Given the description of an element on the screen output the (x, y) to click on. 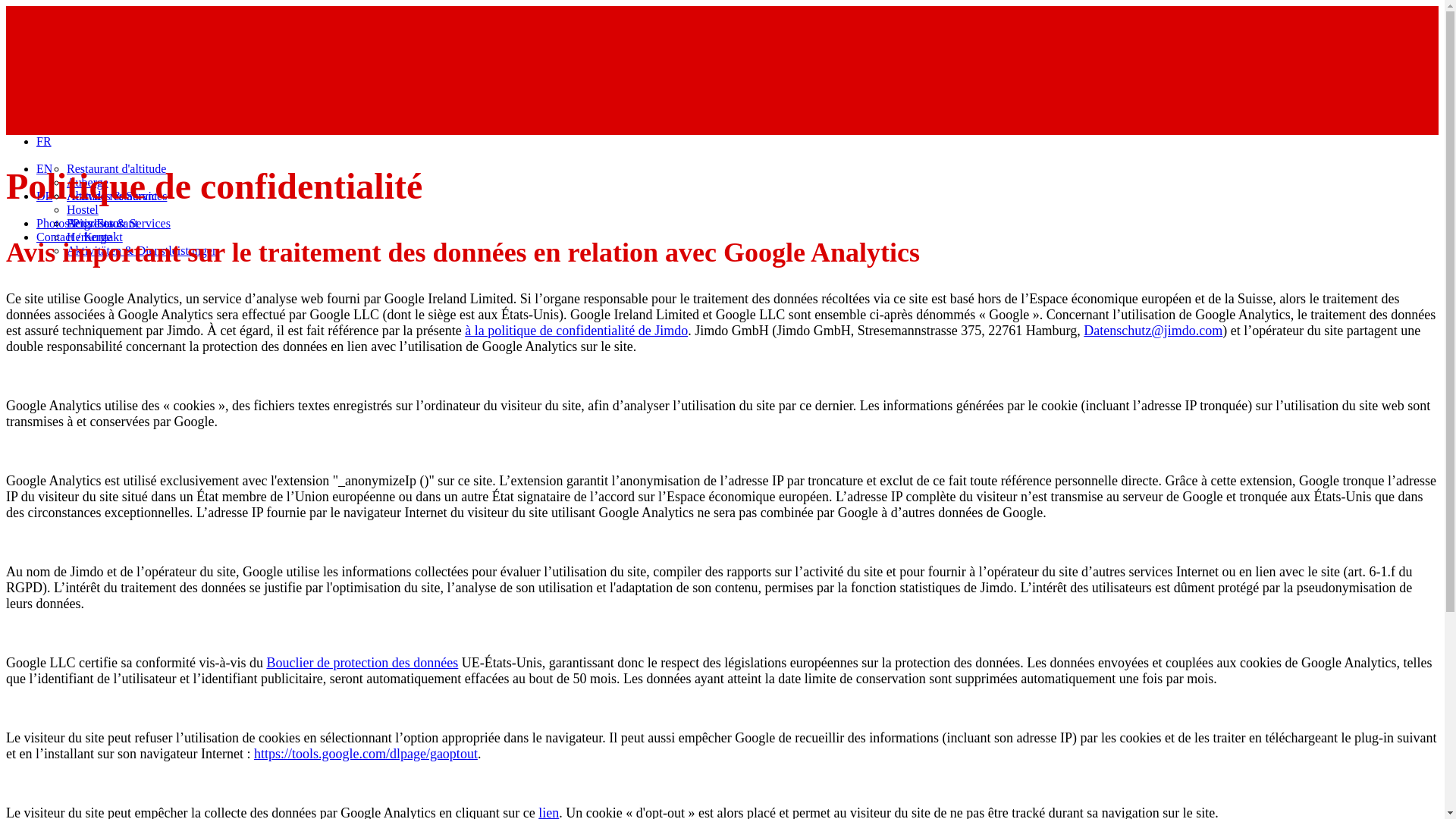
https://tools.google.com/dlpage/gaoptout Element type: text (365, 753)
Datenschutz@jimdo.com Element type: text (1152, 330)
Bergrestaurant Element type: text (102, 222)
Altitude restaurant Element type: text (111, 195)
FR Element type: text (43, 140)
Auberge Element type: text (87, 181)
Herberge Element type: text (88, 236)
Restaurant d'altitude Element type: text (116, 168)
Activities & Services Element type: text (118, 222)
EN Element type: text (44, 168)
DE Element type: text (44, 195)
Hostel Element type: text (82, 209)
Photos/Pics/Fotos Element type: text (79, 222)
Contact / Kontakt Element type: text (79, 236)
